Given the description of an element on the screen output the (x, y) to click on. 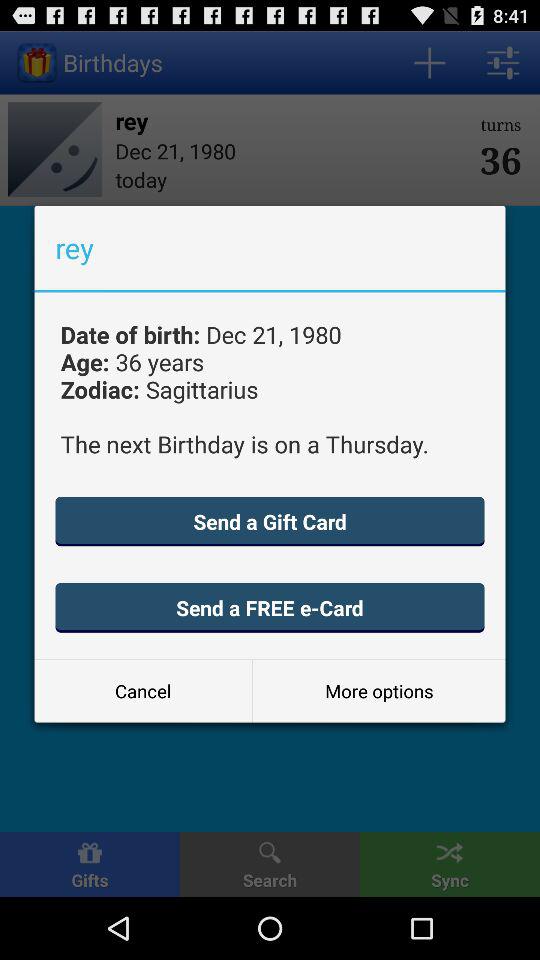
turn off cancel button (143, 690)
